Given the description of an element on the screen output the (x, y) to click on. 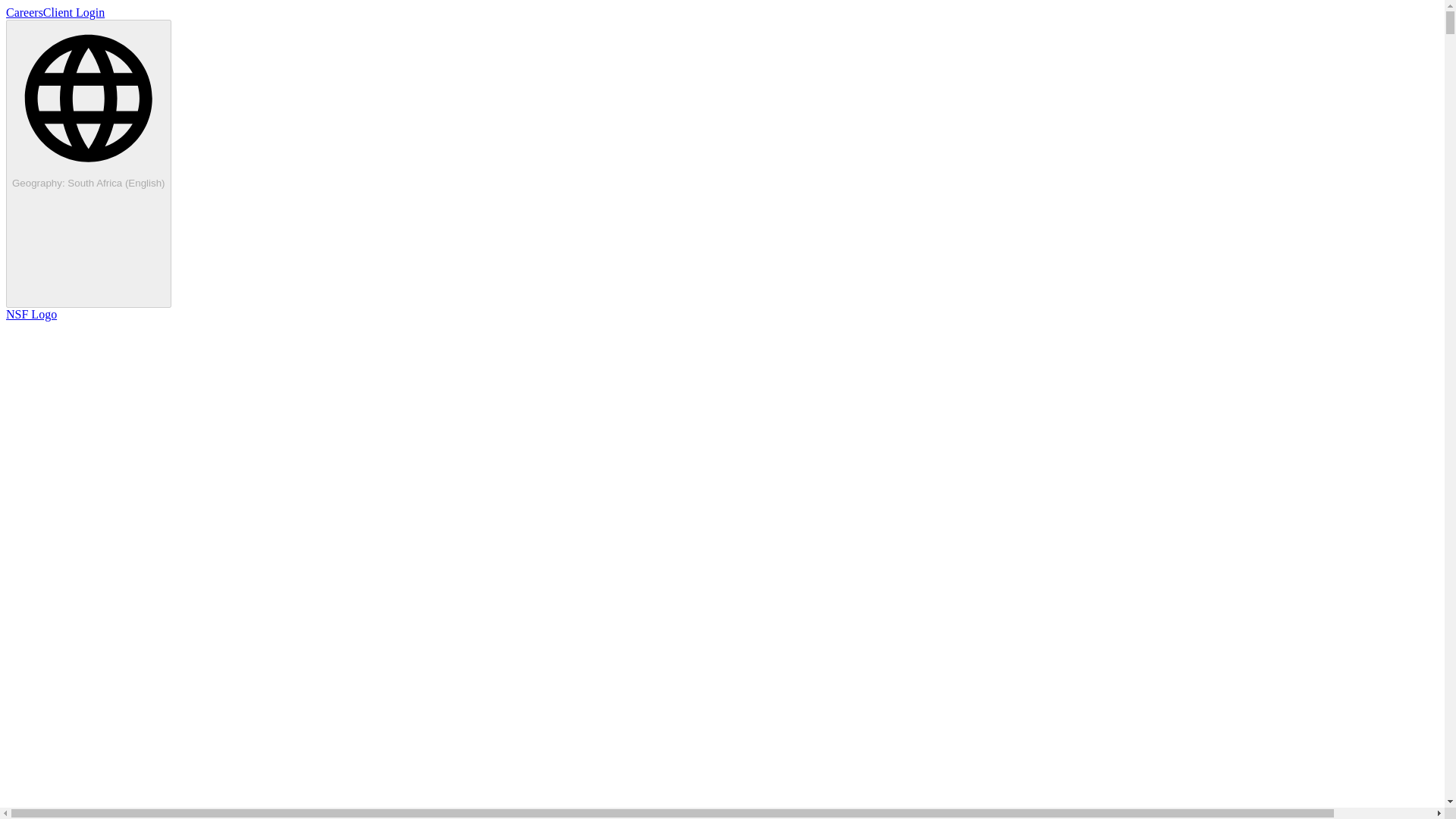
Careers (24, 11)
Client Login (73, 11)
